Given the description of an element on the screen output the (x, y) to click on. 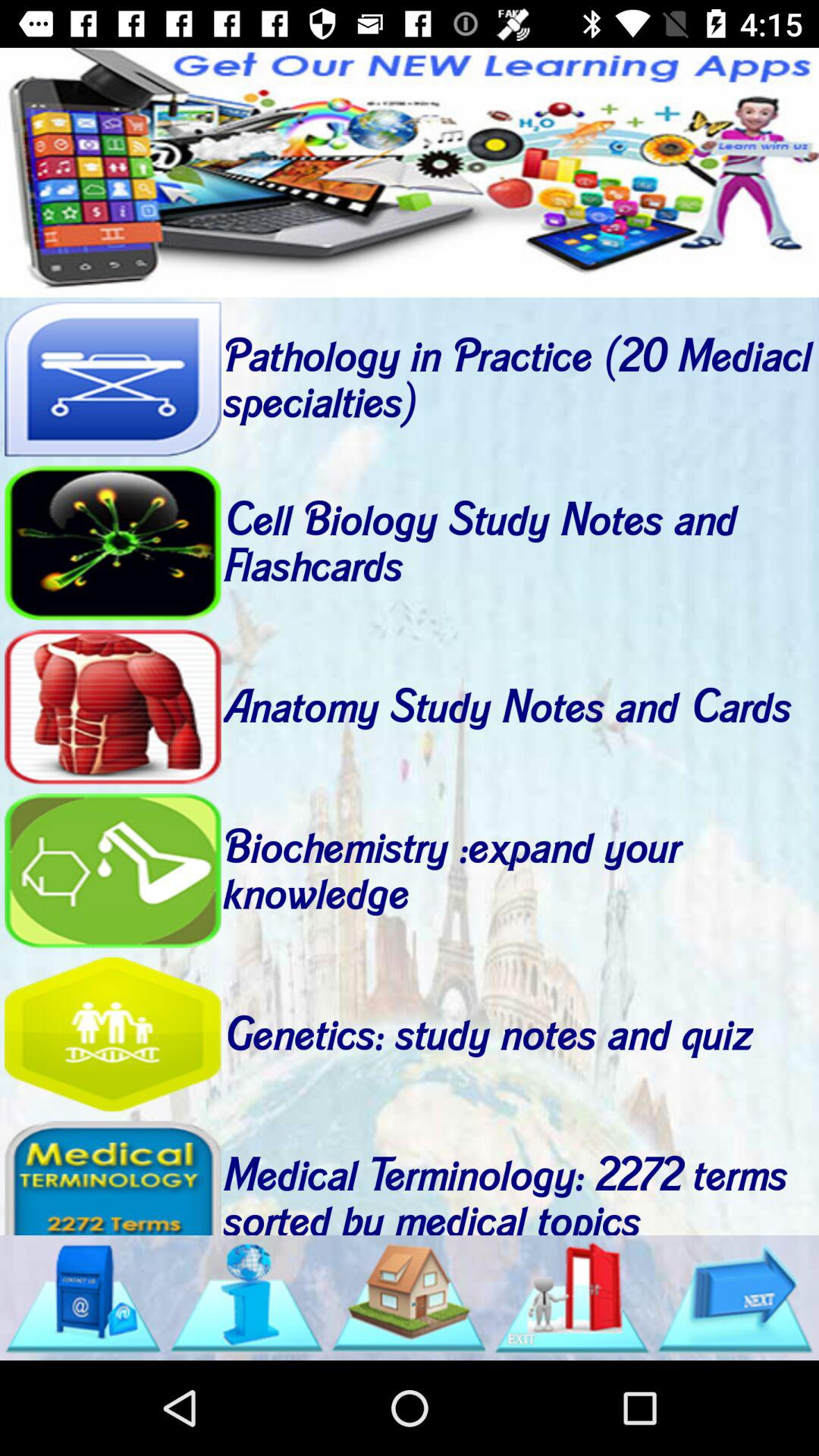
study anatomy notes and cards (112, 706)
